Given the description of an element on the screen output the (x, y) to click on. 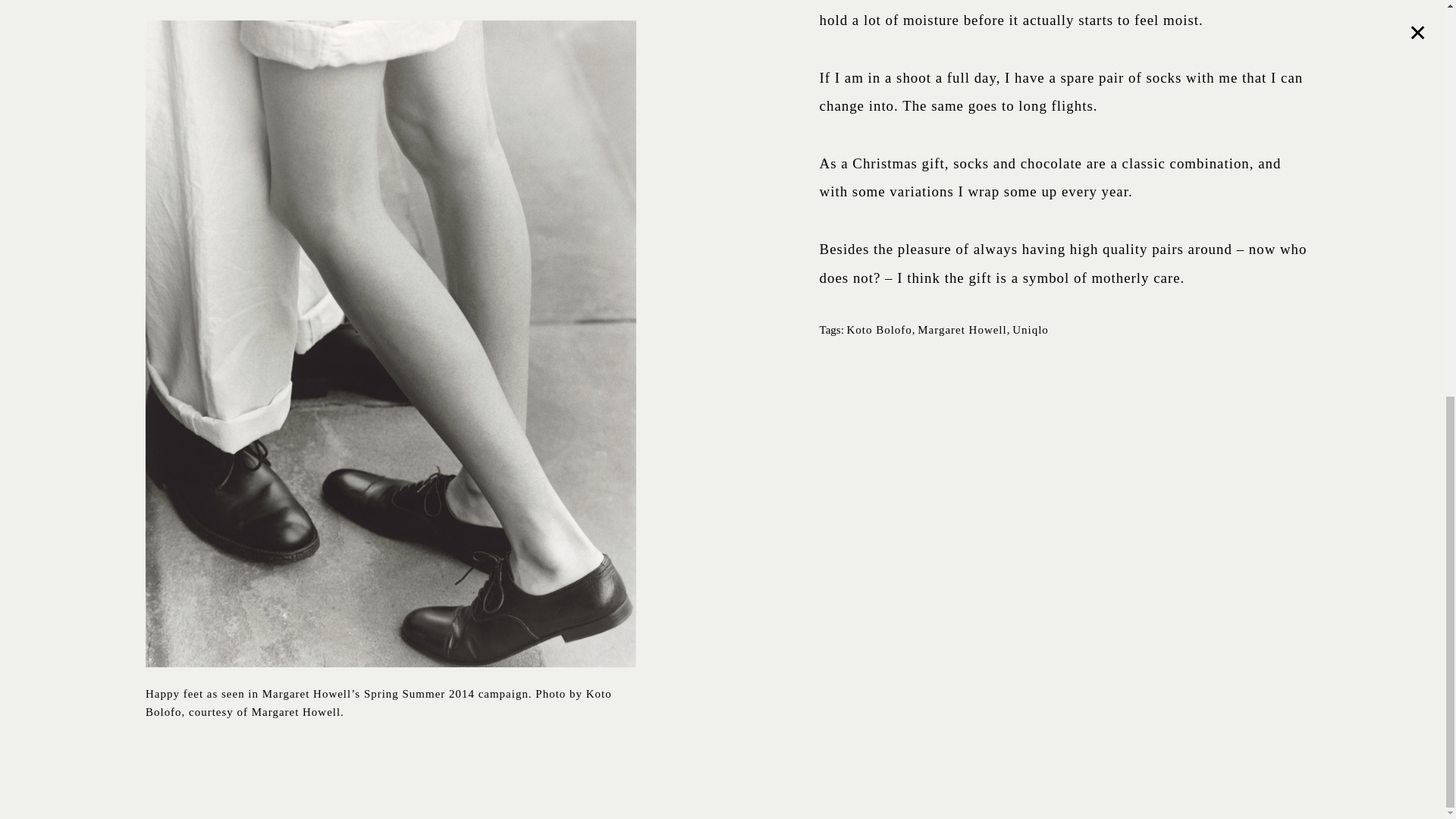
Koto Bolofo (879, 329)
Margaret Howell (961, 329)
Uniqlo (1029, 329)
